Given the description of an element on the screen output the (x, y) to click on. 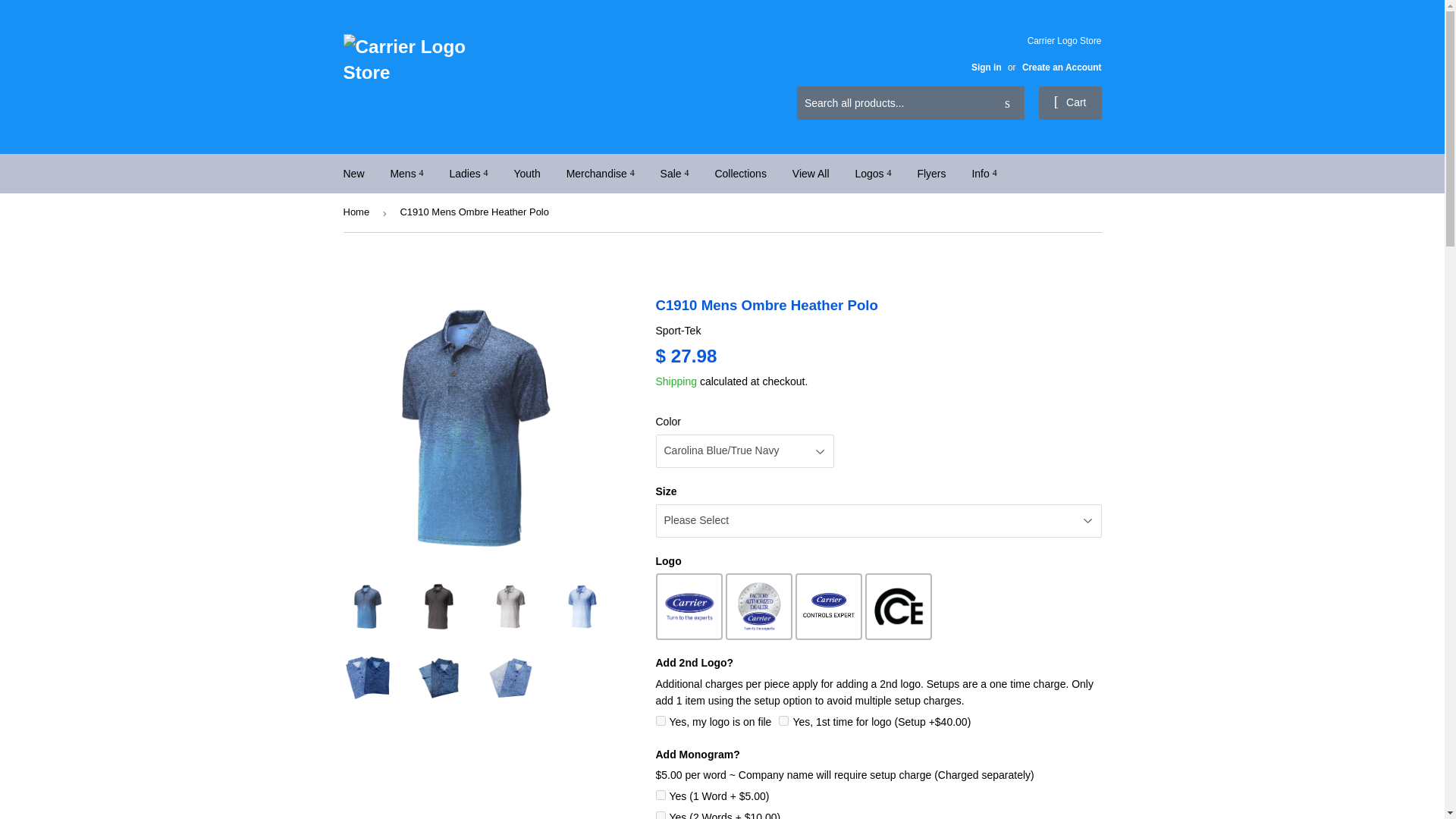
Yes, my logo is on file (660, 720)
Search (1007, 103)
Create an Account (1062, 67)
Sign in (986, 67)
Cart (1070, 102)
